Given the description of an element on the screen output the (x, y) to click on. 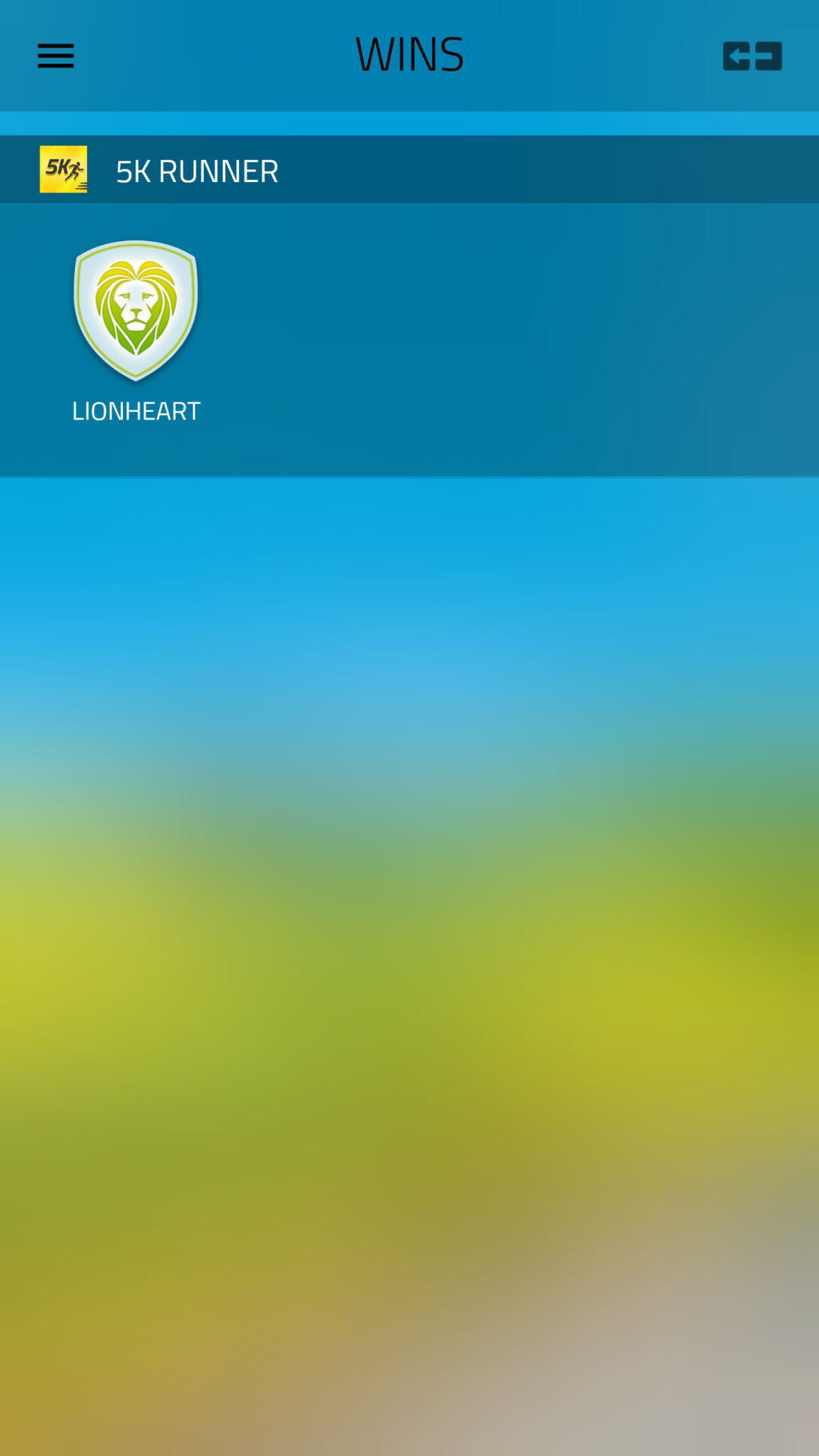
select the item next to the wins icon (61, 55)
